Given the description of an element on the screen output the (x, y) to click on. 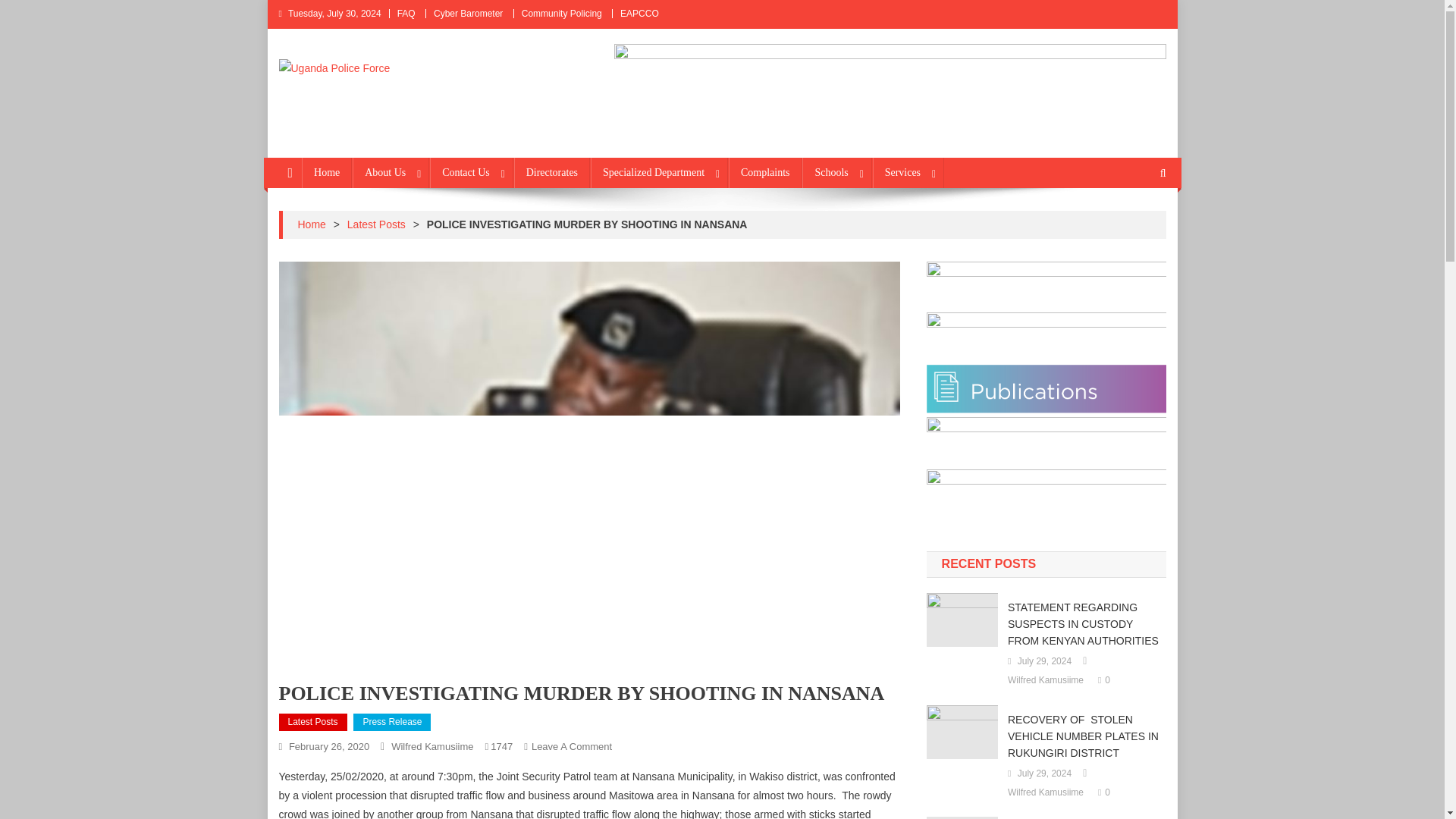
Press Release (391, 722)
Directorates (551, 173)
Uganda Police Force (399, 93)
Search (1133, 223)
FAQ (405, 13)
Wilfred Kamusiime (432, 746)
Complaints (765, 173)
About Us (390, 173)
Schools (836, 173)
Community Policing (561, 13)
Contact Us (471, 173)
February 26, 2020 (328, 746)
Latest Posts (313, 722)
EAPCCO (639, 13)
Latest Posts (376, 224)
